Given the description of an element on the screen output the (x, y) to click on. 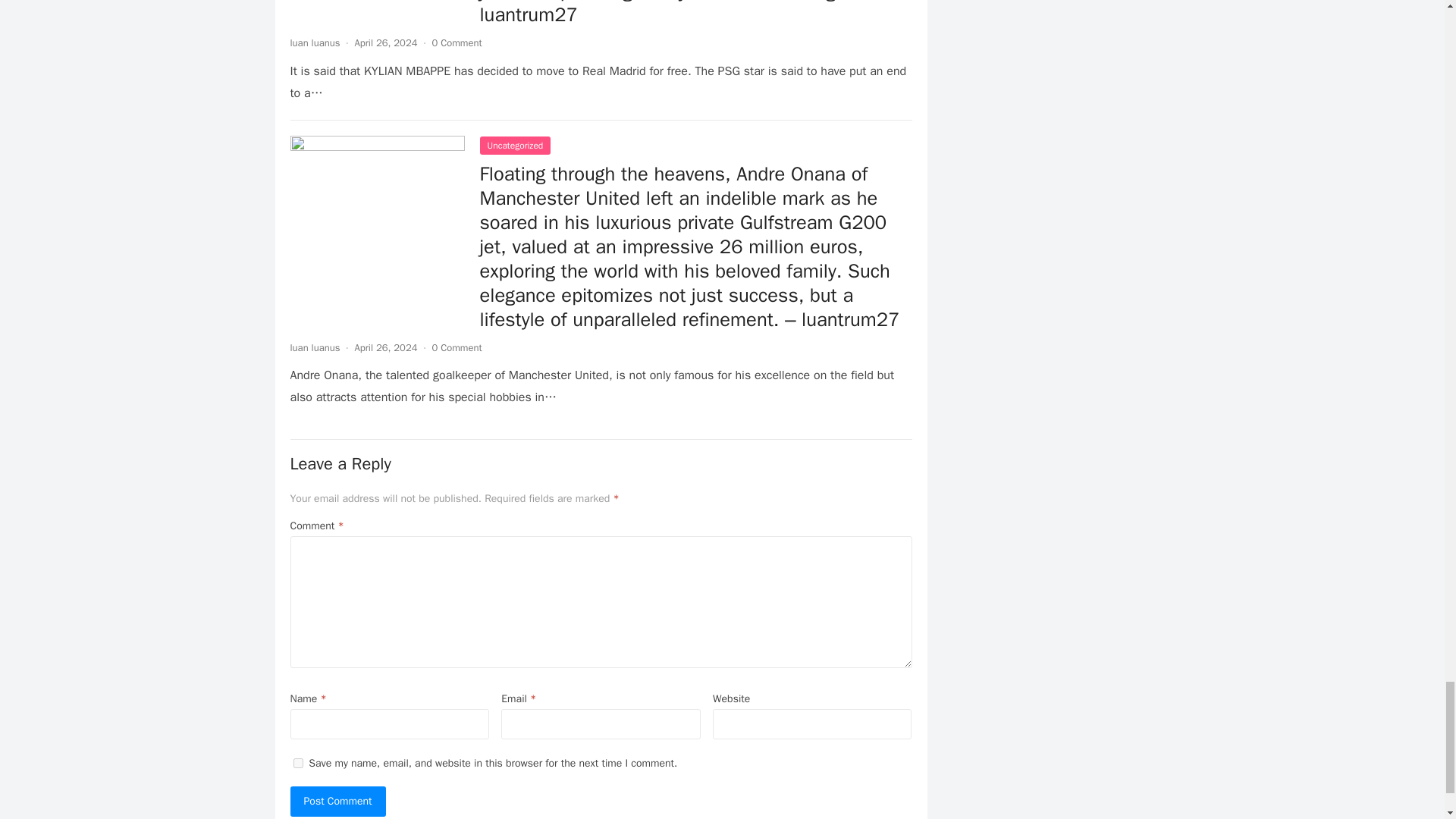
Post Comment (337, 801)
yes (297, 763)
Posts by luan luanus (314, 42)
Posts by luan luanus (314, 347)
